Given the description of an element on the screen output the (x, y) to click on. 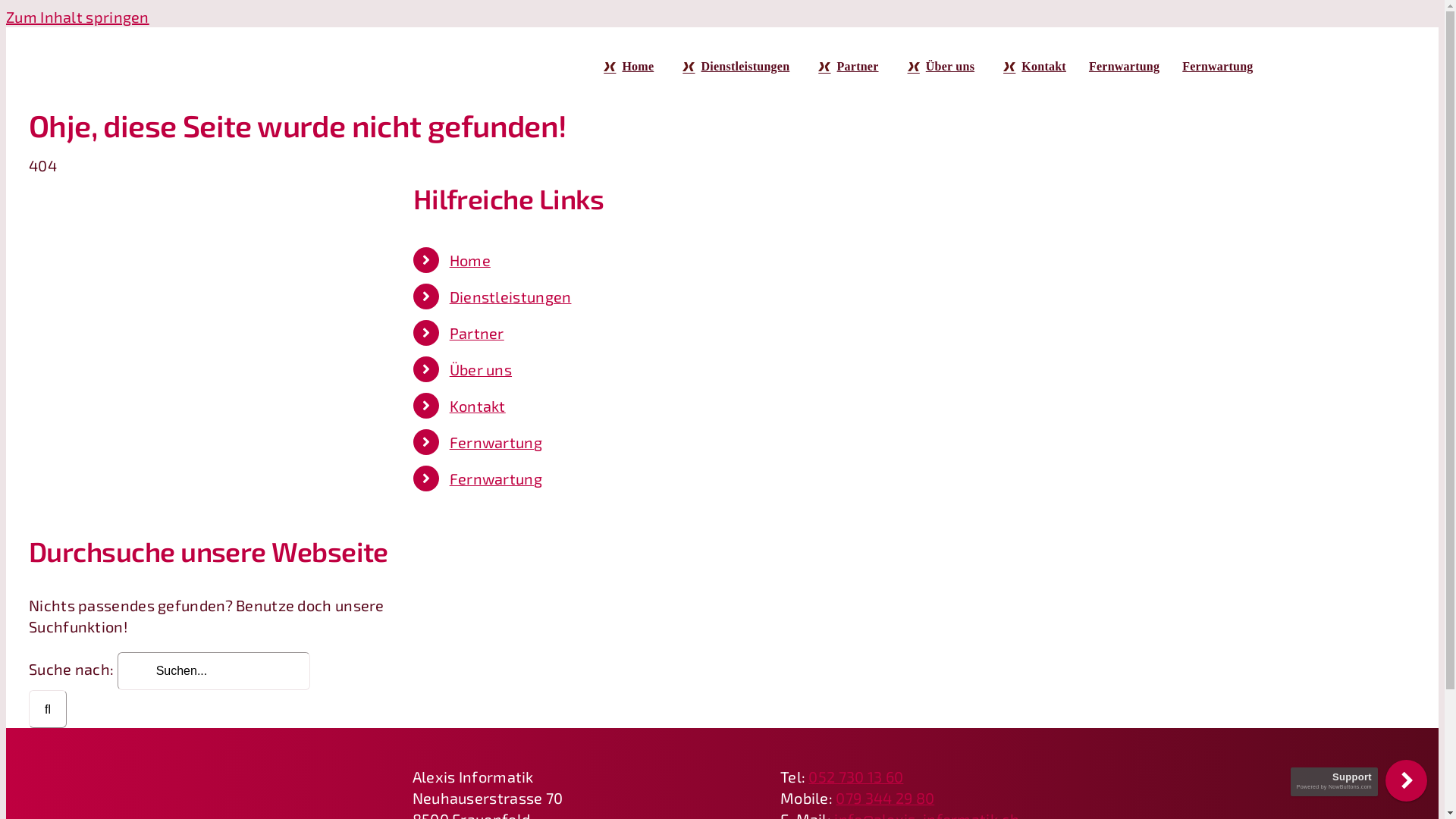
link Element type: text (1406, 780)
079 344 29 80 Element type: text (884, 797)
Fernwartung Element type: text (495, 478)
Dienstleistungen Element type: text (732, 67)
Kontakt Element type: text (1031, 67)
Home Element type: text (469, 260)
alexis-informatik-element-x Element type: hover (203, 761)
Partner Element type: text (845, 67)
Fernwartung Element type: text (1217, 67)
Dienstleistungen Element type: text (510, 296)
Zum Inhalt springen Element type: text (77, 16)
Partner Element type: text (476, 332)
052 730 13 60 Element type: text (855, 776)
Fernwartung Element type: text (1123, 67)
Fernwartung Element type: text (495, 442)
Kontakt Element type: text (477, 405)
Home Element type: text (625, 67)
